Given the description of an element on the screen output the (x, y) to click on. 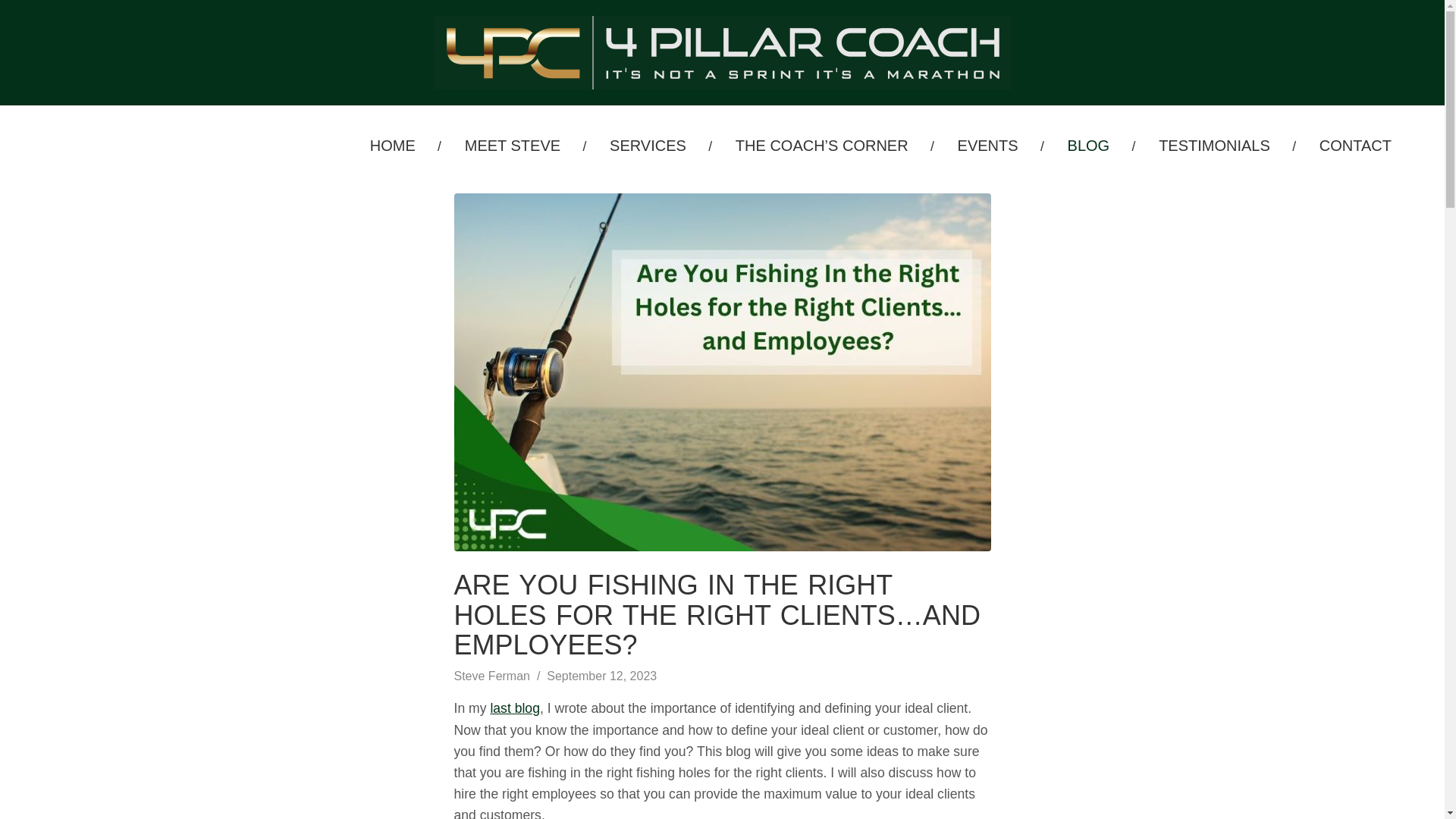
last blog (514, 708)
SERVICES (648, 144)
MEET STEVE (512, 144)
CONTACT (1355, 144)
BLOG (1088, 144)
TESTIMONIALS (1214, 144)
HOME (392, 144)
EVENTS (988, 144)
